Given the description of an element on the screen output the (x, y) to click on. 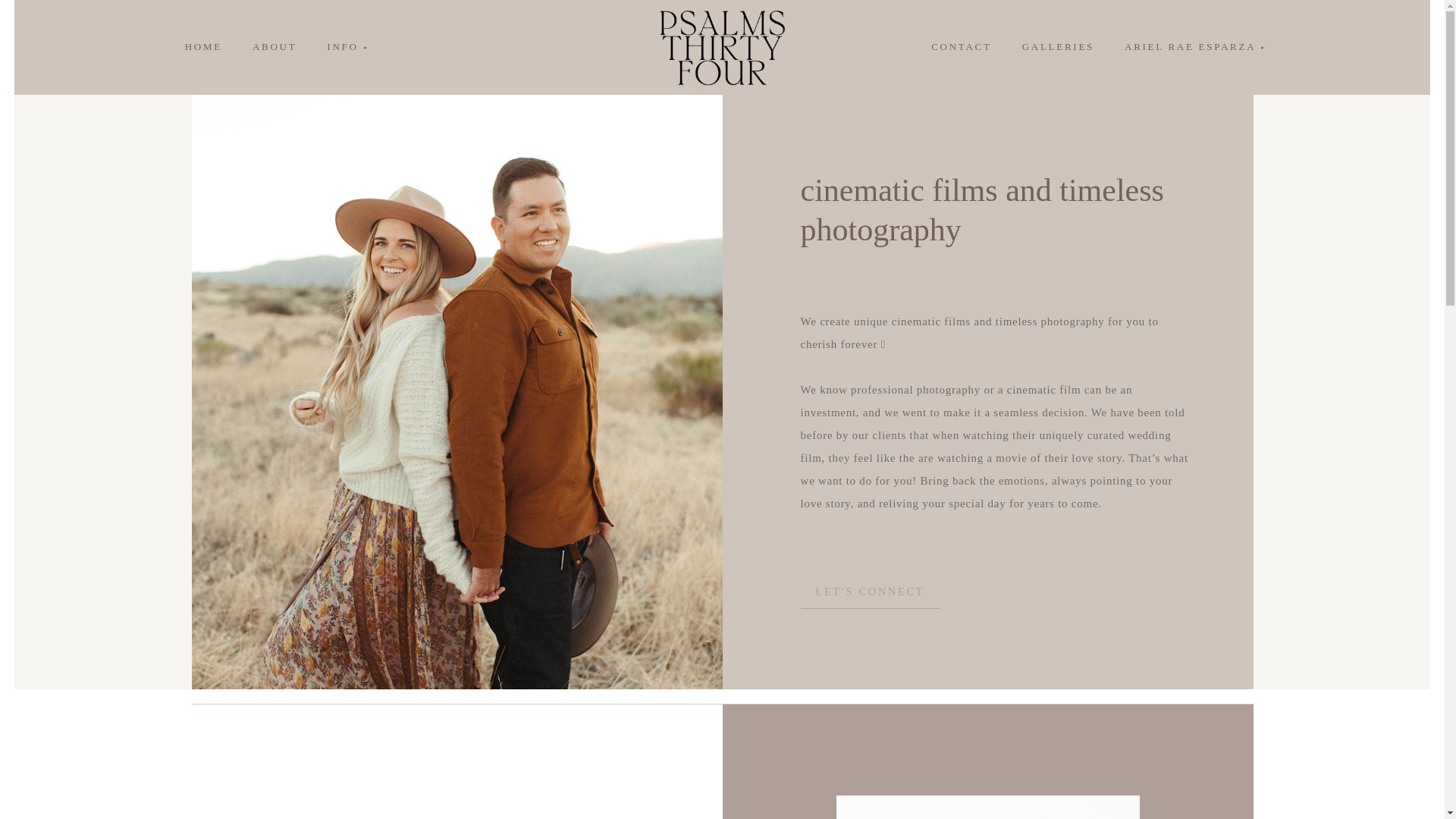
CONTACT (960, 46)
INFO (344, 46)
LET'S CONNECT (870, 594)
ABOUT (274, 46)
GALLERIES (1058, 46)
ARIEL RAE ESPARZA (1192, 46)
HOME (203, 46)
